Given the description of an element on the screen output the (x, y) to click on. 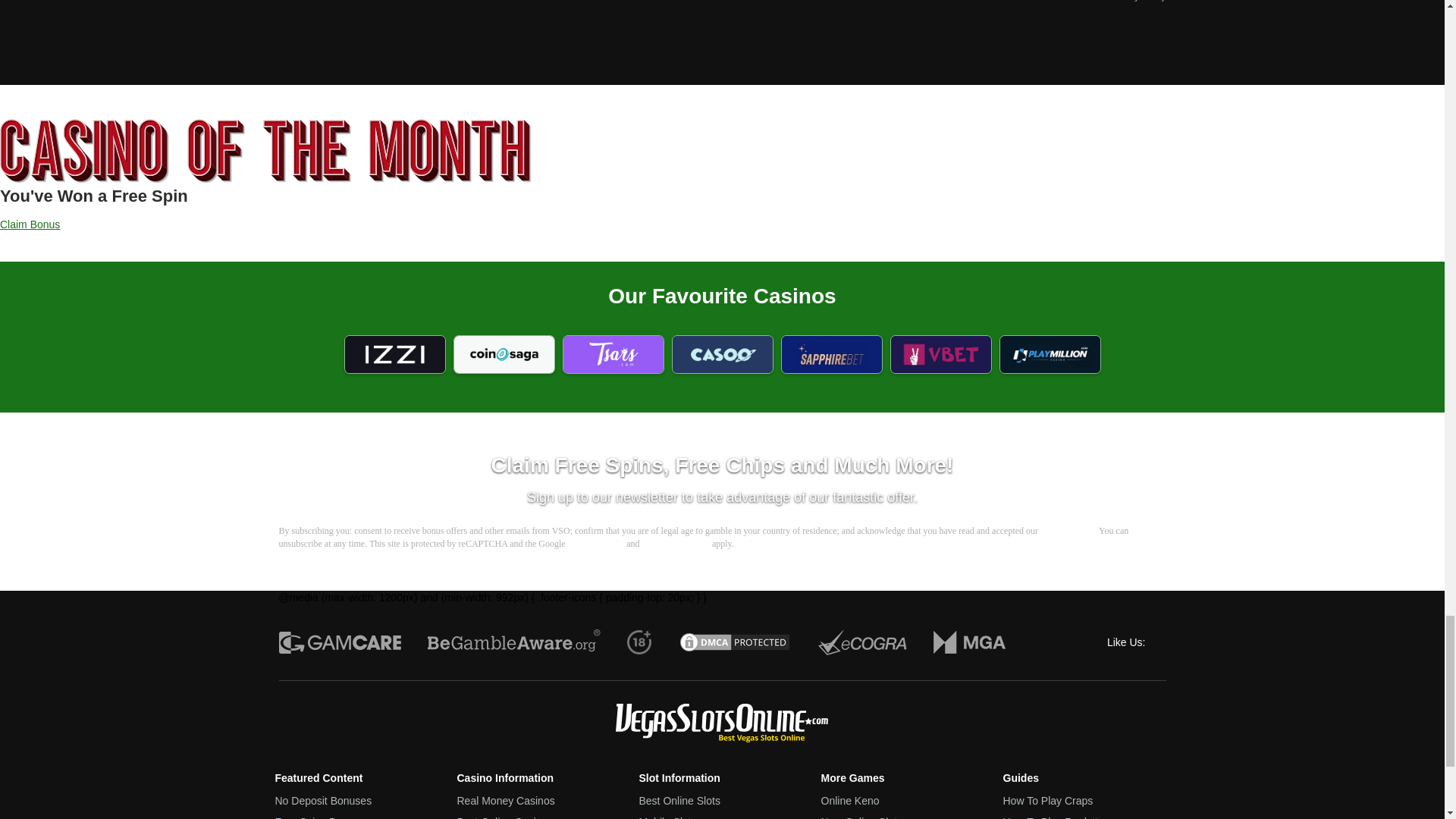
Gamcare (340, 642)
Ecogra (860, 642)
DMCA.com Protection Status (735, 642)
Gambleaware (513, 642)
